Given the description of an element on the screen output the (x, y) to click on. 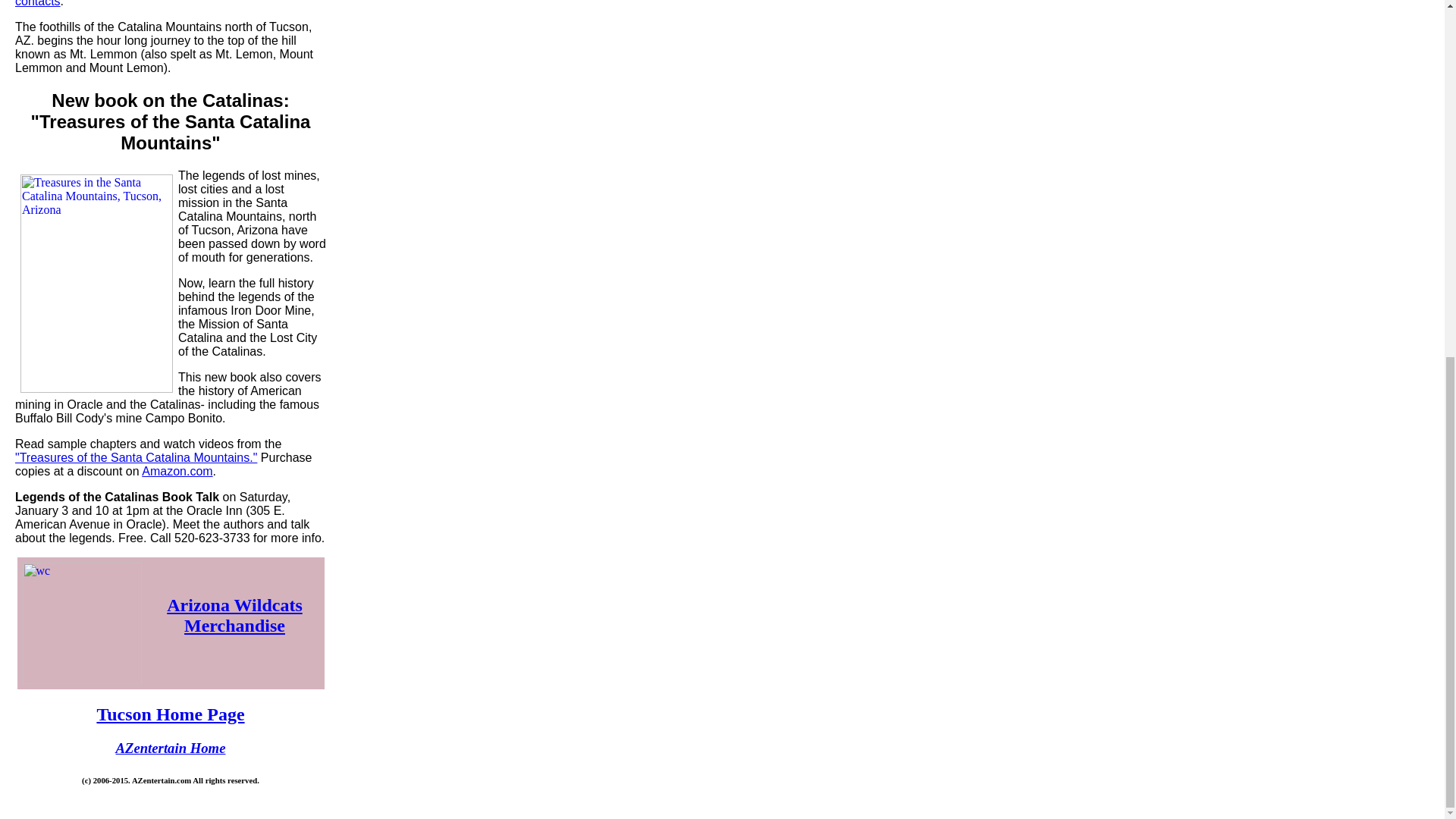
"Treasures of the Santa Catalina Mountains." (135, 457)
Tucson Home Page (170, 713)
Arizona Wildcats Merchandise (234, 615)
Amazon.com (176, 471)
Road condition information and contacts (150, 3)
AZentertain Home (170, 747)
